Given the description of an element on the screen output the (x, y) to click on. 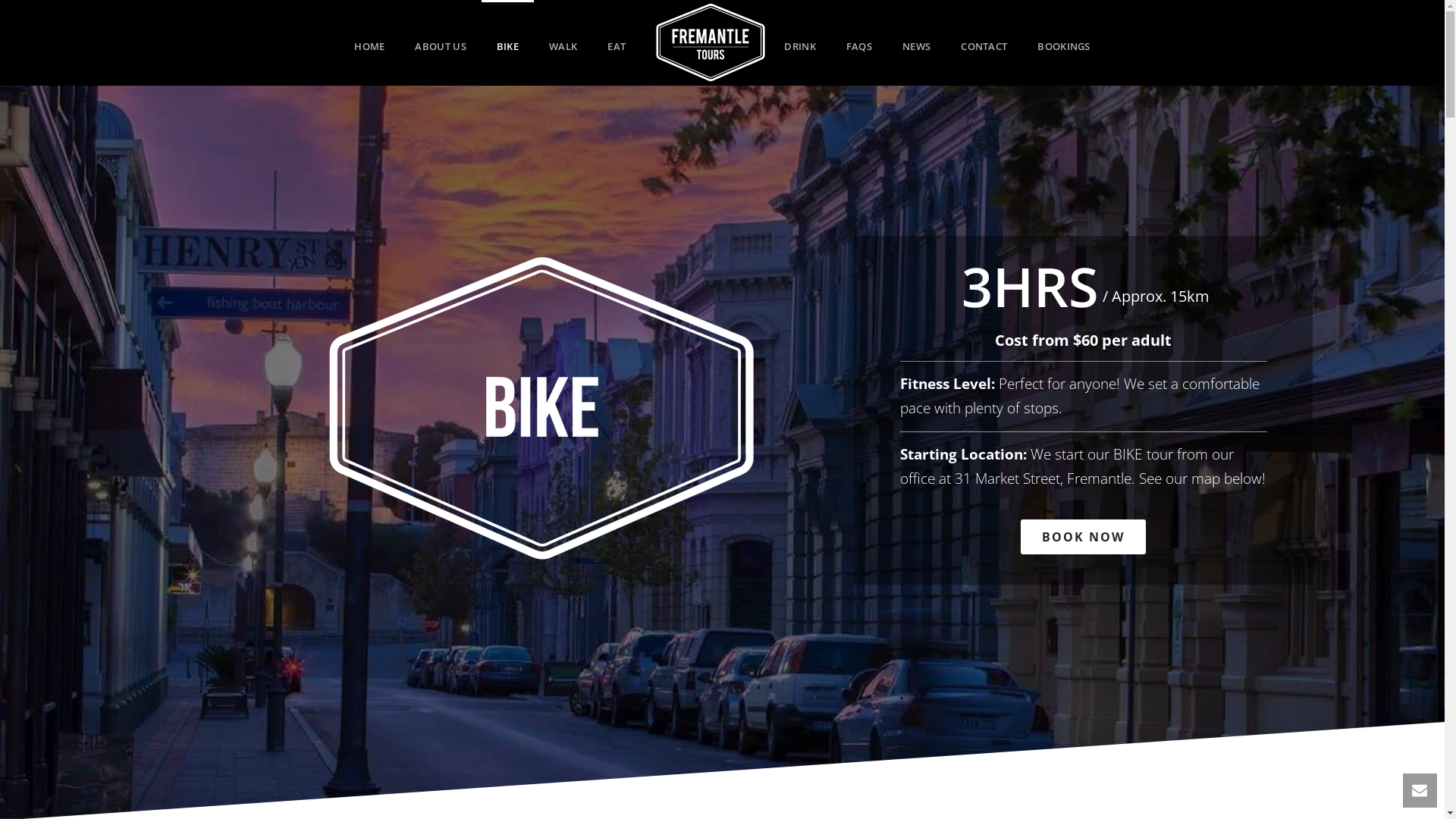
BOOKINGS Element type: text (1063, 42)
BOOK NOW Element type: text (1082, 536)
CONTACT Element type: text (983, 42)
Fremantle Tours Element type: hover (704, 42)
BIKE Element type: text (507, 42)
FAQS Element type: text (859, 42)
EAT Element type: text (616, 42)
Follow Us on facebook Element type: hover (649, 672)
BOOKINGS Element type: text (444, 596)
ONESTI DESIGNS Element type: text (655, 797)
Follow Us on instagram Element type: hover (743, 672)
DRINK Element type: text (799, 42)
ABOUT US Element type: text (439, 42)
ft-bike600 Element type: hover (540, 408)
HOME Element type: text (368, 42)
NEWS Element type: text (916, 42)
Follow Us on TripAdvisor Element type: hover (794, 672)
WALK Element type: text (562, 42)
CONTACT US Element type: text (1000, 596)
Follow Us on googleplus Element type: hover (696, 672)
Be a traveler not a tourist! Element type: hover (710, 42)
